Given the description of an element on the screen output the (x, y) to click on. 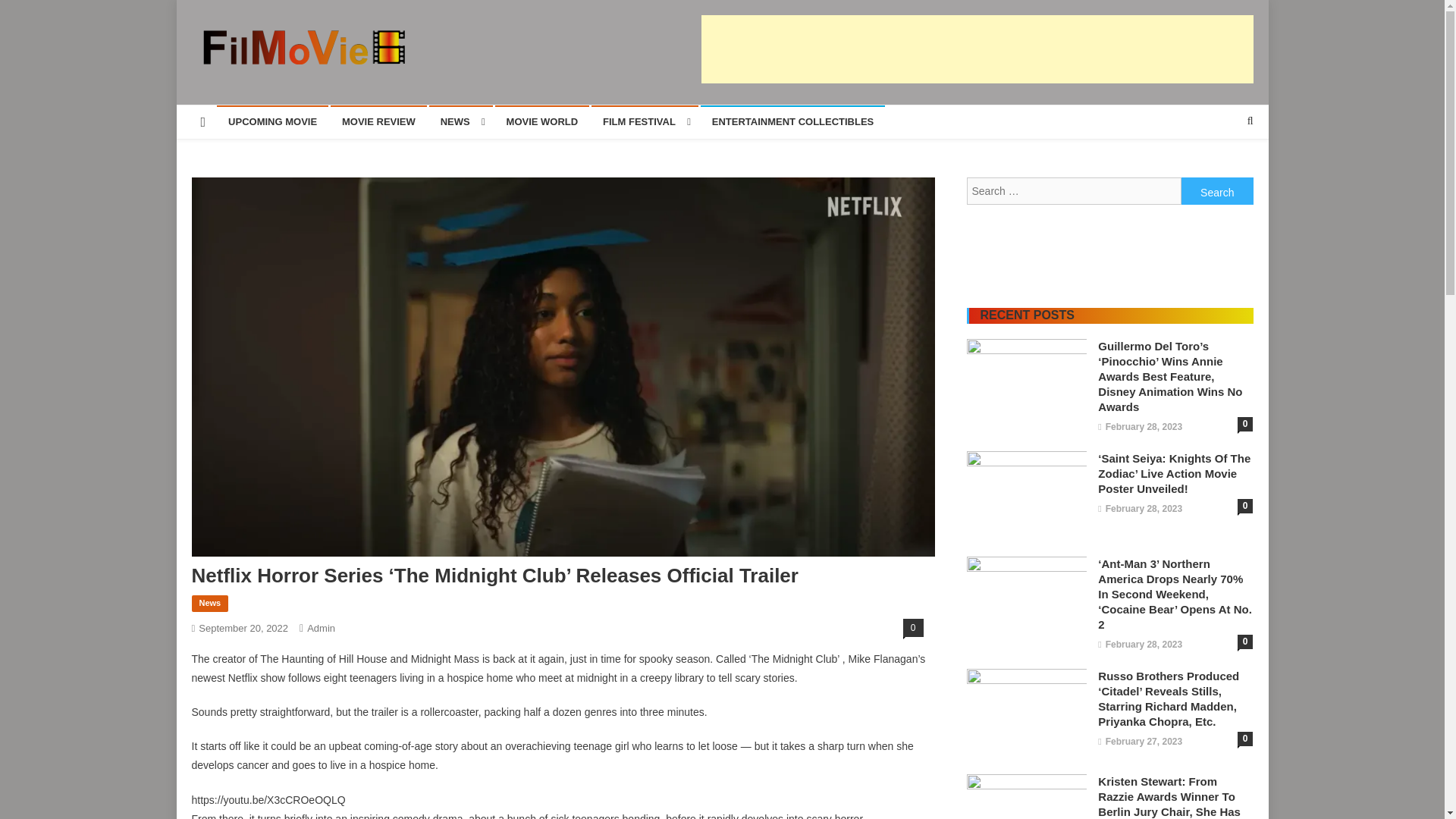
Search (1221, 171)
FMV6 (223, 79)
MOVIE REVIEW (378, 121)
Admin (320, 627)
ENTERTAINMENT COLLECTIBLES (792, 121)
FILM FESTIVAL (644, 121)
0 (912, 628)
UPCOMING MOVIE (272, 121)
News (209, 603)
September 20, 2022 (243, 627)
